Given the description of an element on the screen output the (x, y) to click on. 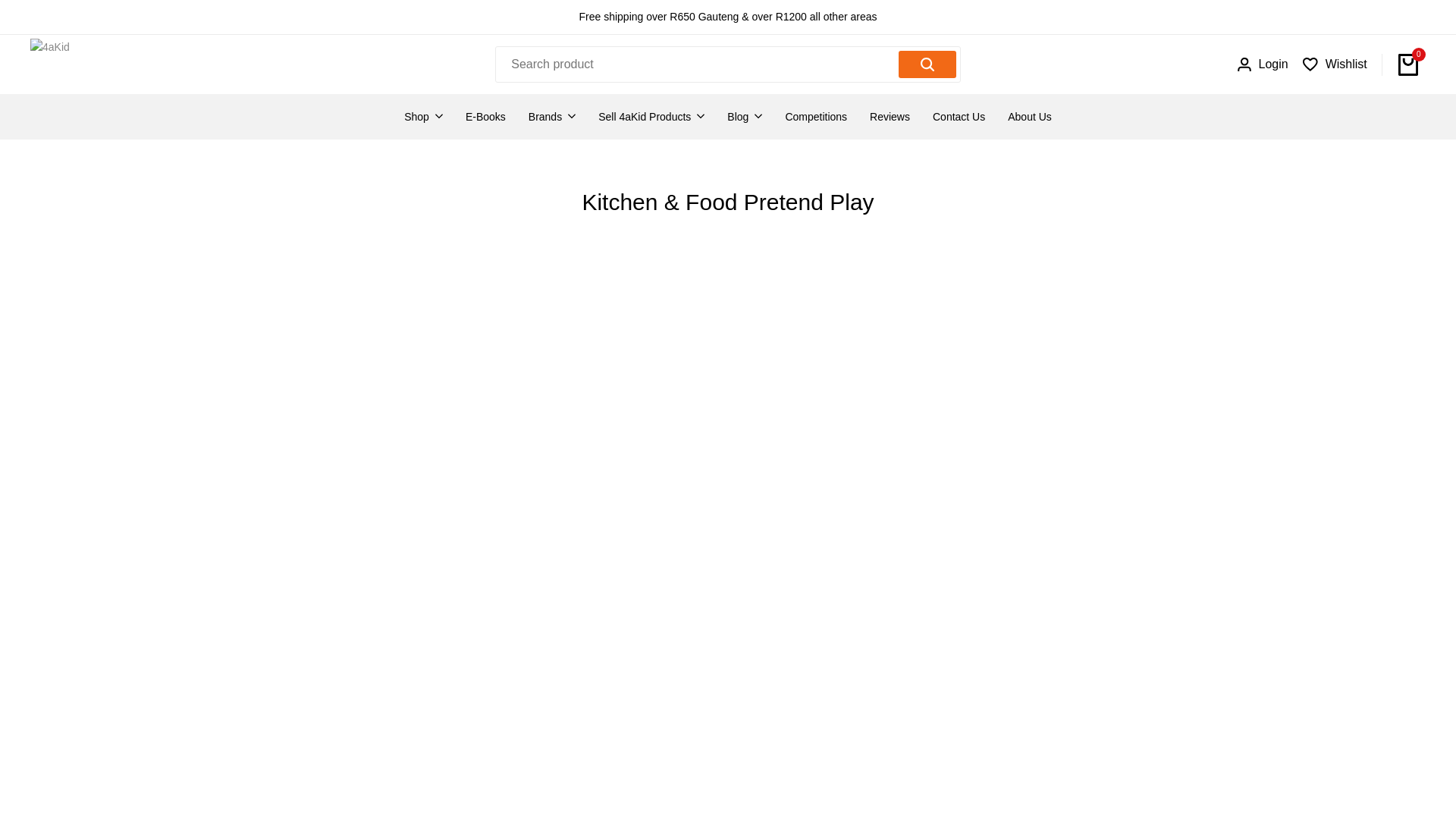
About Us (1029, 116)
Wishlist (1335, 64)
0 (1407, 64)
Competitions (815, 116)
Reviews (889, 116)
E-Books (485, 116)
Contact Us (959, 116)
Login (1262, 64)
